Given the description of an element on the screen output the (x, y) to click on. 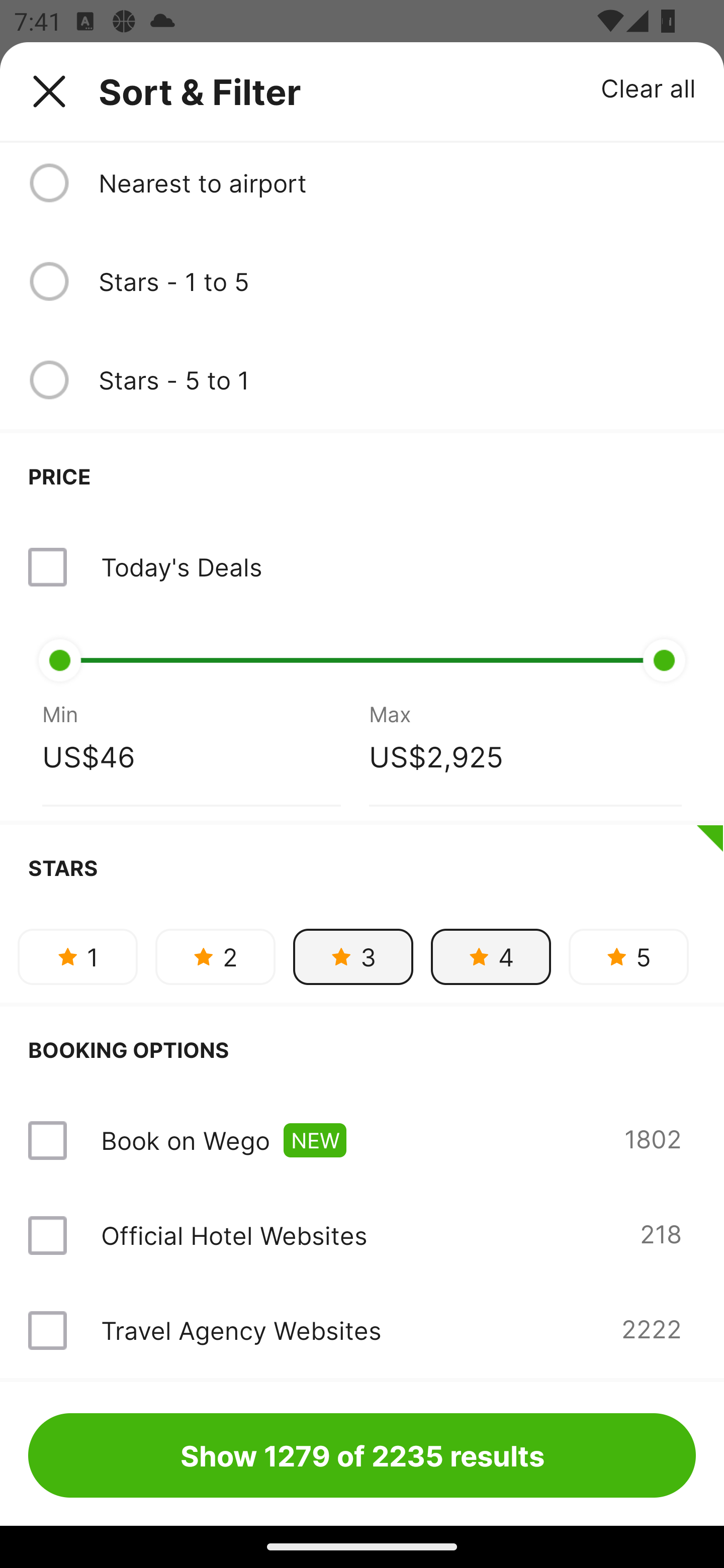
Clear all (648, 87)
Nearest to airport (396, 182)
Stars - 1 to 5 (396, 281)
Stars - 5 to 1 (396, 380)
Today's Deals (362, 566)
Today's Deals (181, 566)
1 (77, 956)
2 (214, 956)
3 (352, 956)
4 (491, 956)
5 (627, 956)
Book on Wego NEW 1802 (362, 1140)
Book on Wego (184, 1139)
Official Hotel Websites 218 (362, 1235)
Official Hotel Websites (233, 1235)
Travel Agency Websites 2222 (362, 1330)
Travel Agency Websites (240, 1330)
Show 1279 of 2235 results (361, 1454)
